Given the description of an element on the screen output the (x, y) to click on. 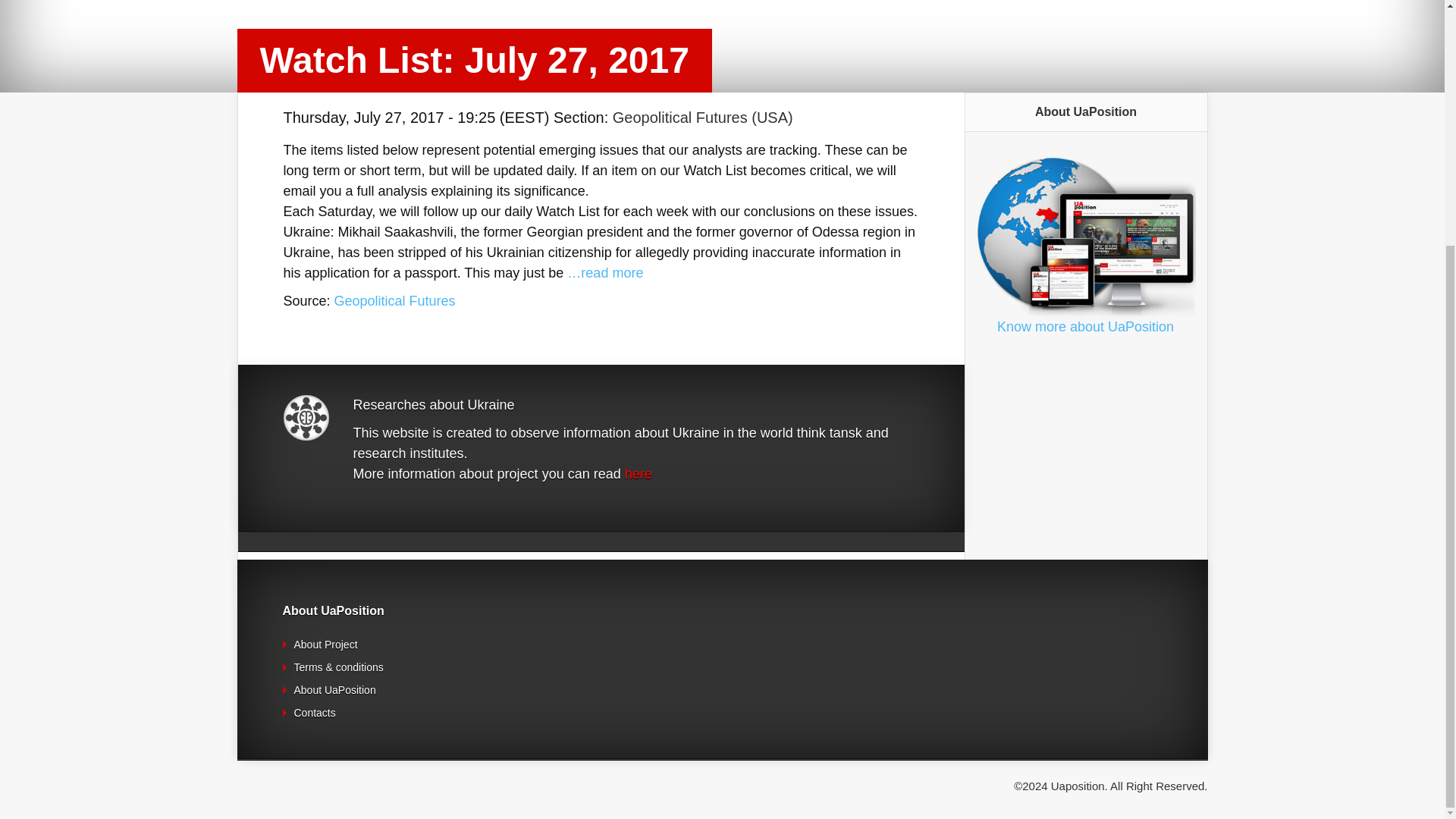
Watch List: July 27, 2017 (394, 300)
Know more about UaPosition (1085, 326)
here (638, 473)
Know more about UaPosition project (1085, 326)
About Project (326, 644)
About UaPosition (334, 689)
Contacts (315, 712)
Geopolitical Futures (394, 300)
